Given the description of an element on the screen output the (x, y) to click on. 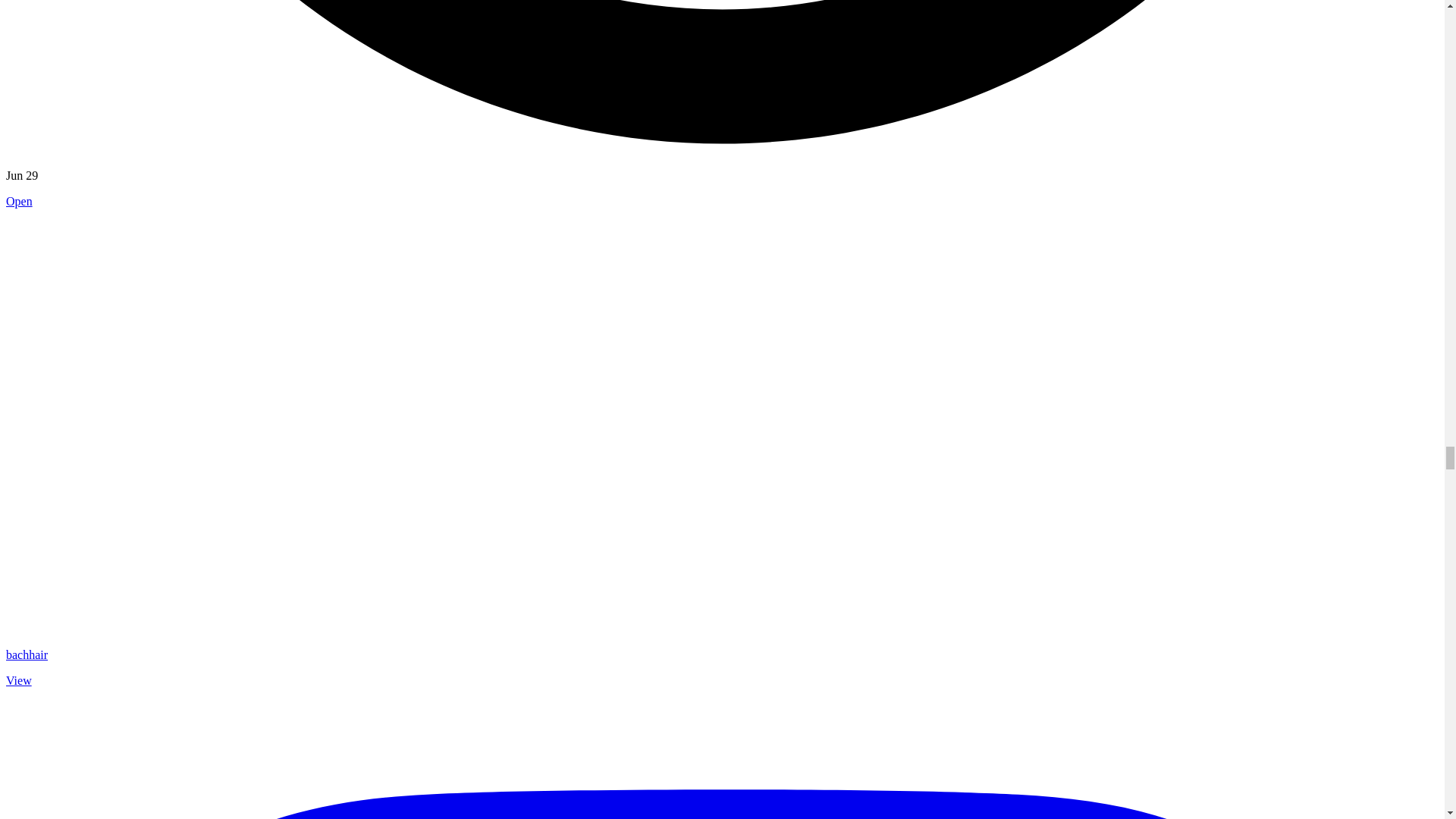
Open (18, 201)
